Given the description of an element on the screen output the (x, y) to click on. 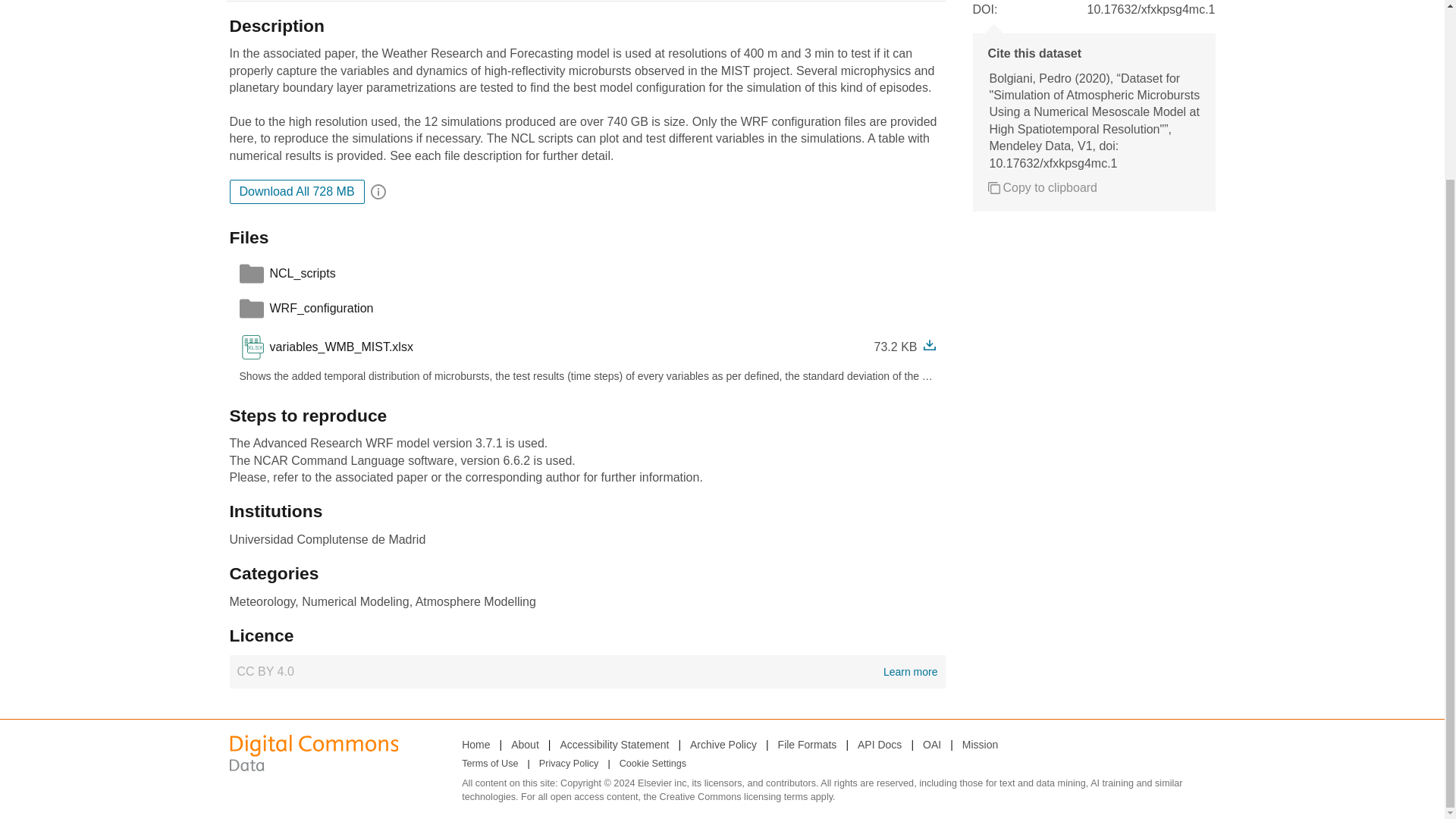
About (524, 744)
OAI (931, 744)
Copy to clipboard (1042, 187)
Download All 728 MB (296, 191)
Cookie Settings (652, 763)
Terms of Use (489, 763)
File Formats (807, 744)
Accessibility Statement (613, 744)
Mission (979, 744)
API Docs (879, 744)
